Given the description of an element on the screen output the (x, y) to click on. 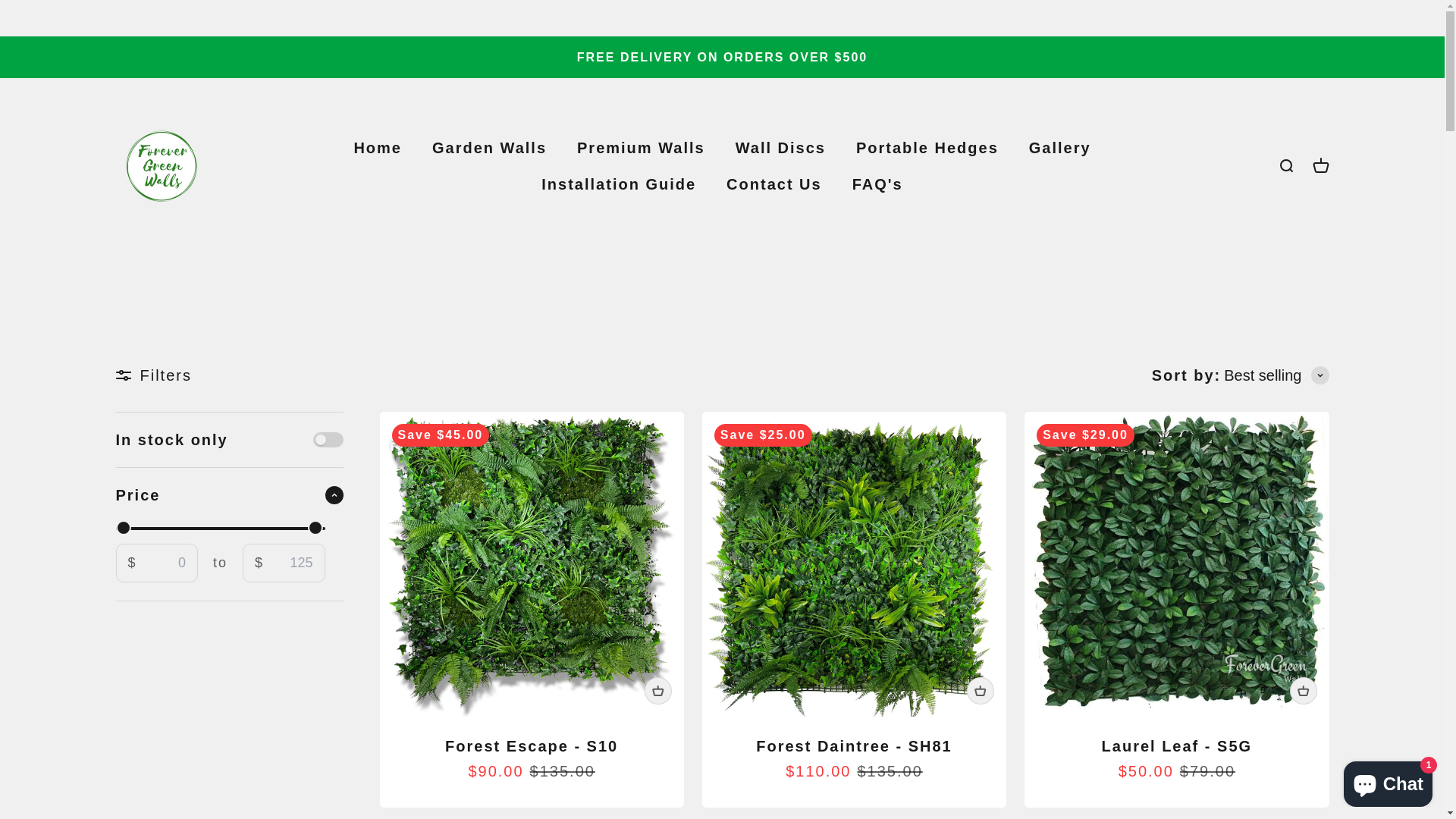
Contact Us Element type: text (774, 183)
Gallery Element type: text (1060, 147)
FAQ's Element type: text (877, 183)
Laurel Leaf - S5G Element type: text (1176, 745)
Home Element type: text (377, 147)
Forever Green Walls Element type: text (160, 165)
Wall Discs Element type: text (780, 147)
Installation Guide Element type: text (618, 183)
Forest Daintree - SH81 Element type: text (854, 745)
Shopify online store chat Element type: hover (1388, 780)
FREE DELIVERY ON ORDERS OVER $500 Element type: text (722, 56)
Forest Escape - S10 Element type: text (531, 745)
Portable Hedges Element type: text (927, 147)
Open search Element type: text (1285, 165)
Open cart
0 Element type: text (1319, 165)
Best selling Element type: text (1275, 375)
Premium Walls Element type: text (641, 147)
Garden Walls Element type: text (489, 147)
